Given the description of an element on the screen output the (x, y) to click on. 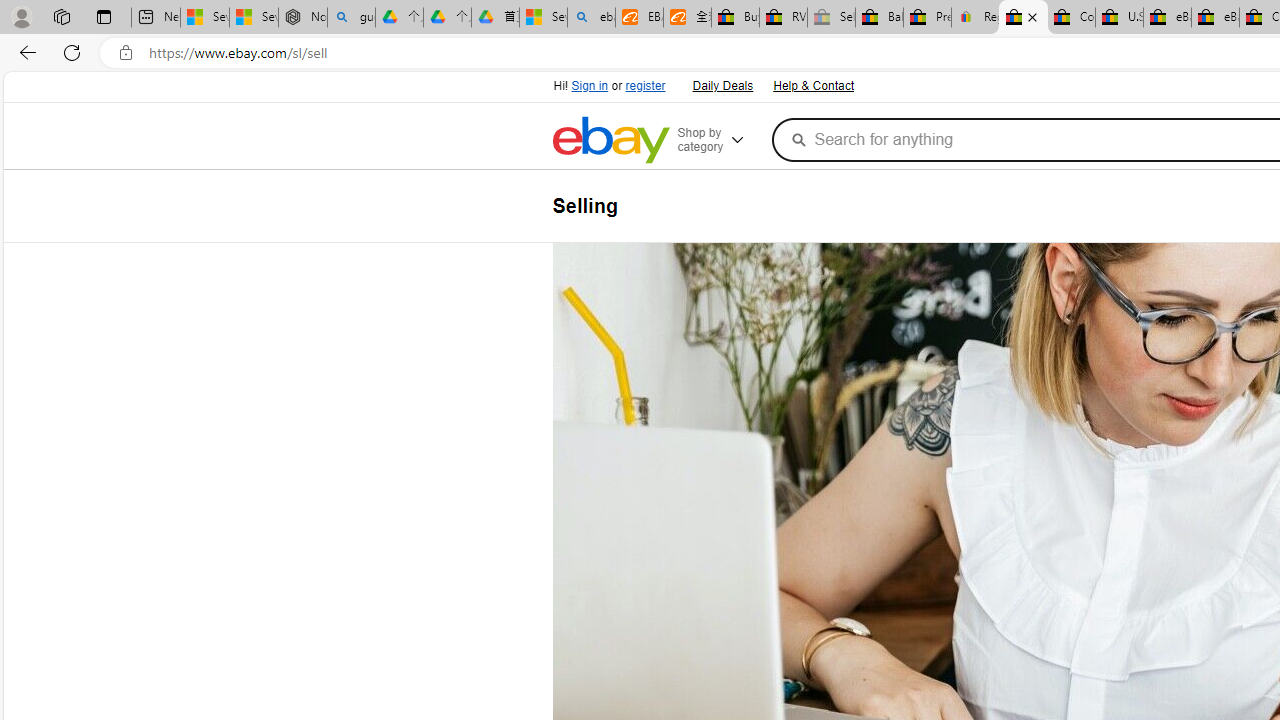
Press Room - eBay Inc. (927, 17)
Sell worldwide with eBay - Sleeping (831, 17)
Sign in (589, 85)
Selling on eBay | Electronics, Fashion, Home & Garden | eBay (1023, 17)
Shop by category (720, 140)
eBay Inc. Reports Third Quarter 2023 Results (1215, 17)
Help & Contact (811, 84)
register (644, 85)
Help & Contact (813, 86)
